Given the description of an element on the screen output the (x, y) to click on. 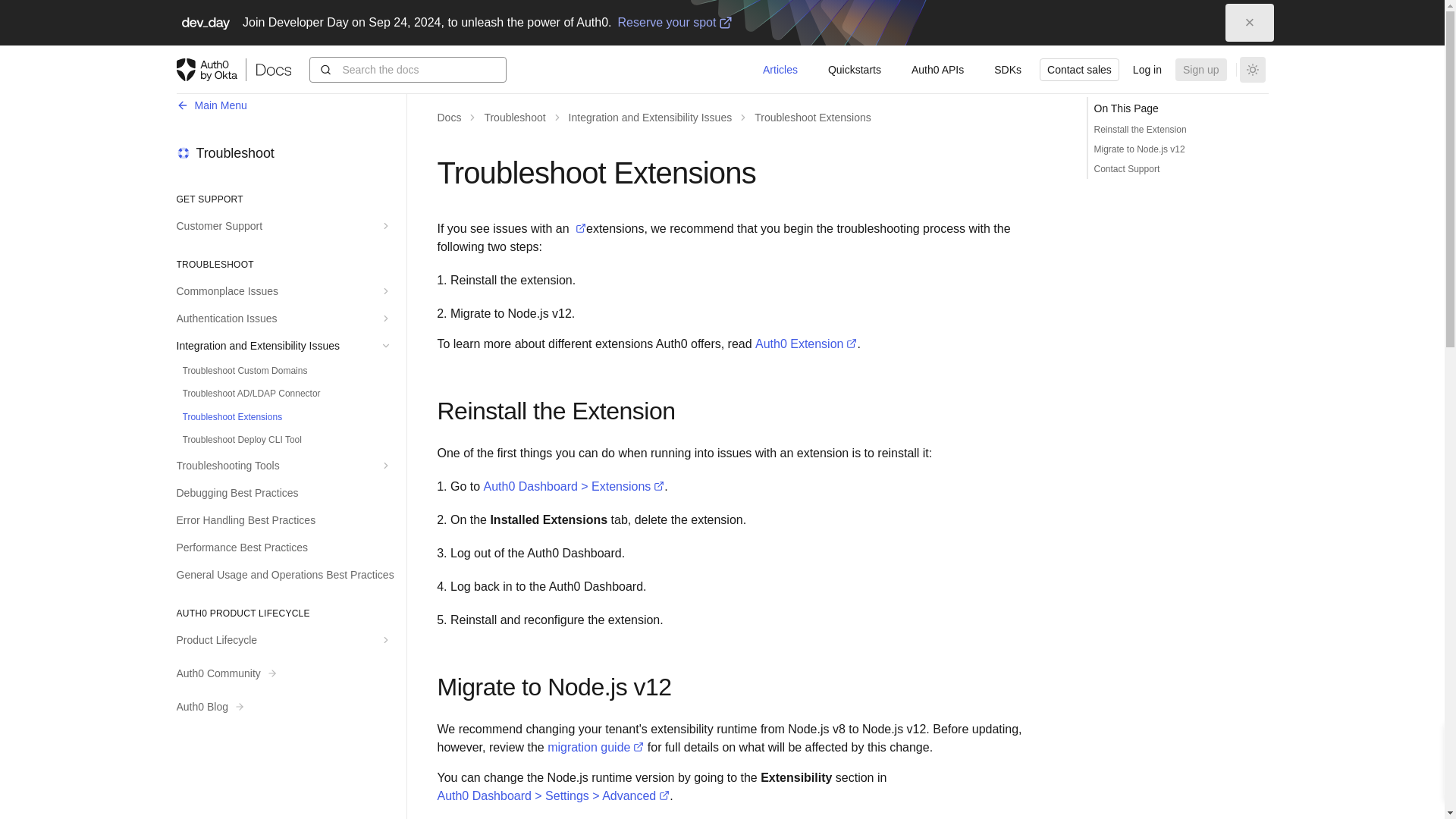
Auth0 Community (289, 670)
Authentication Issues (289, 318)
Performance Best Practices (289, 547)
Commonplace Issues (289, 290)
Auth0 Community (289, 670)
Auth0 APIs (937, 69)
Auth0 Blog (289, 703)
Performance Best Practices (289, 547)
Troubleshoot Deploy CLI Tool (292, 439)
Troubleshoot Extensions (292, 416)
